Given the description of an element on the screen output the (x, y) to click on. 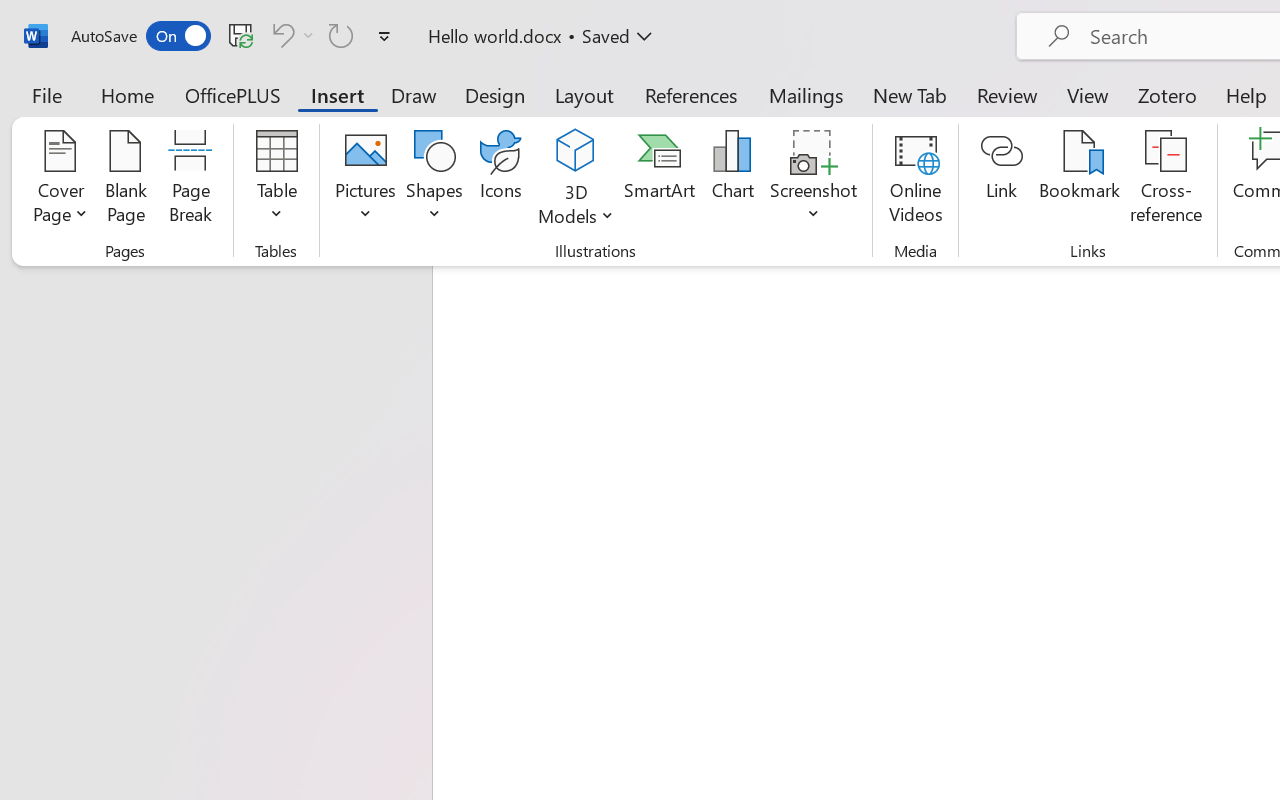
More Options (308, 35)
OfficePLUS (233, 94)
View (1087, 94)
Home (127, 94)
Mailings (806, 94)
Draw (413, 94)
New Tab (909, 94)
Customize Quick Access Toolbar (384, 35)
